Given the description of an element on the screen output the (x, y) to click on. 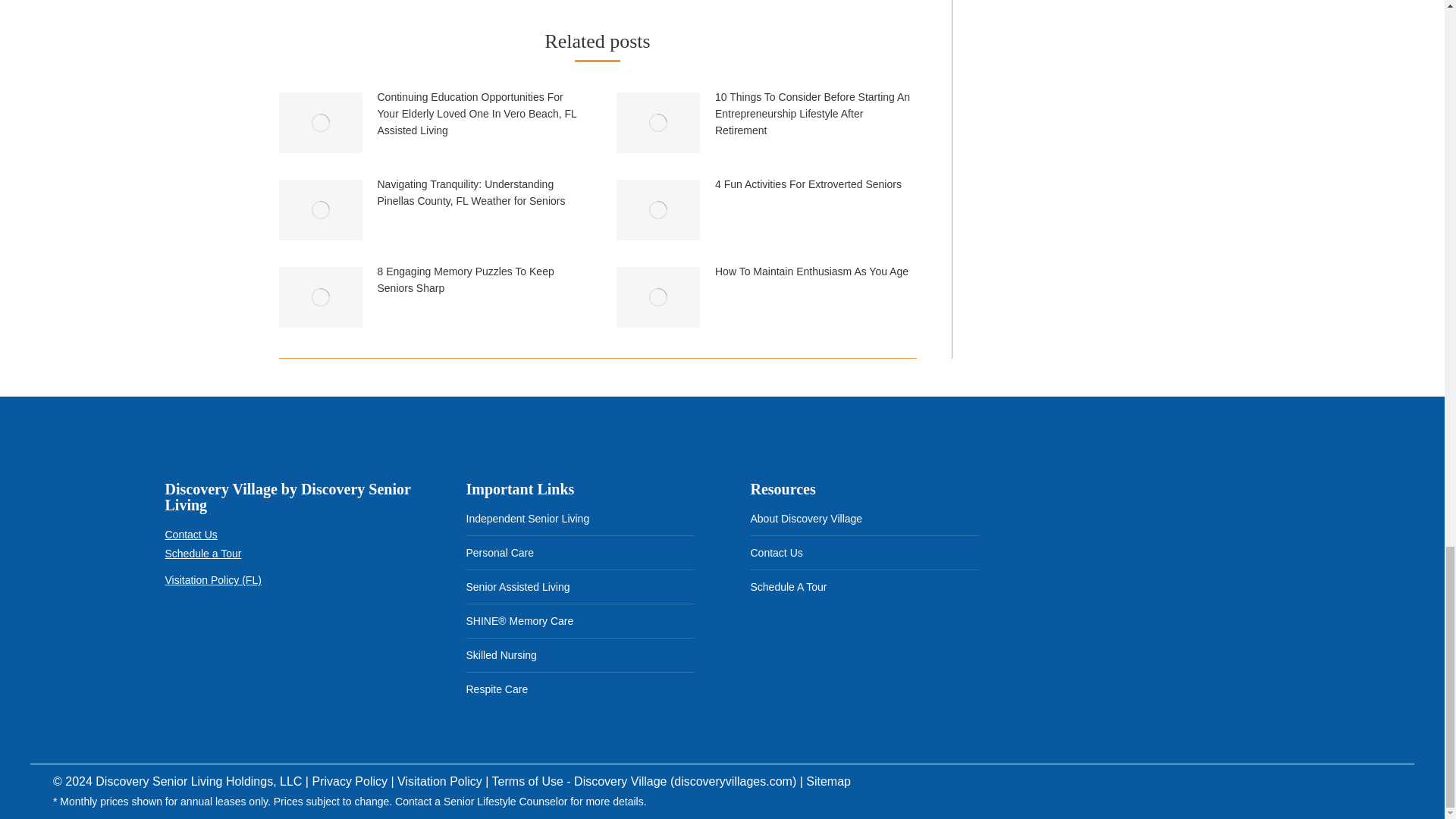
Equal-Housing-Opportunity-logo22-150x144 (259, 639)
Discovery Map (1148, 567)
Equal-Housing-Opportunity-logo222 (189, 638)
